Given the description of an element on the screen output the (x, y) to click on. 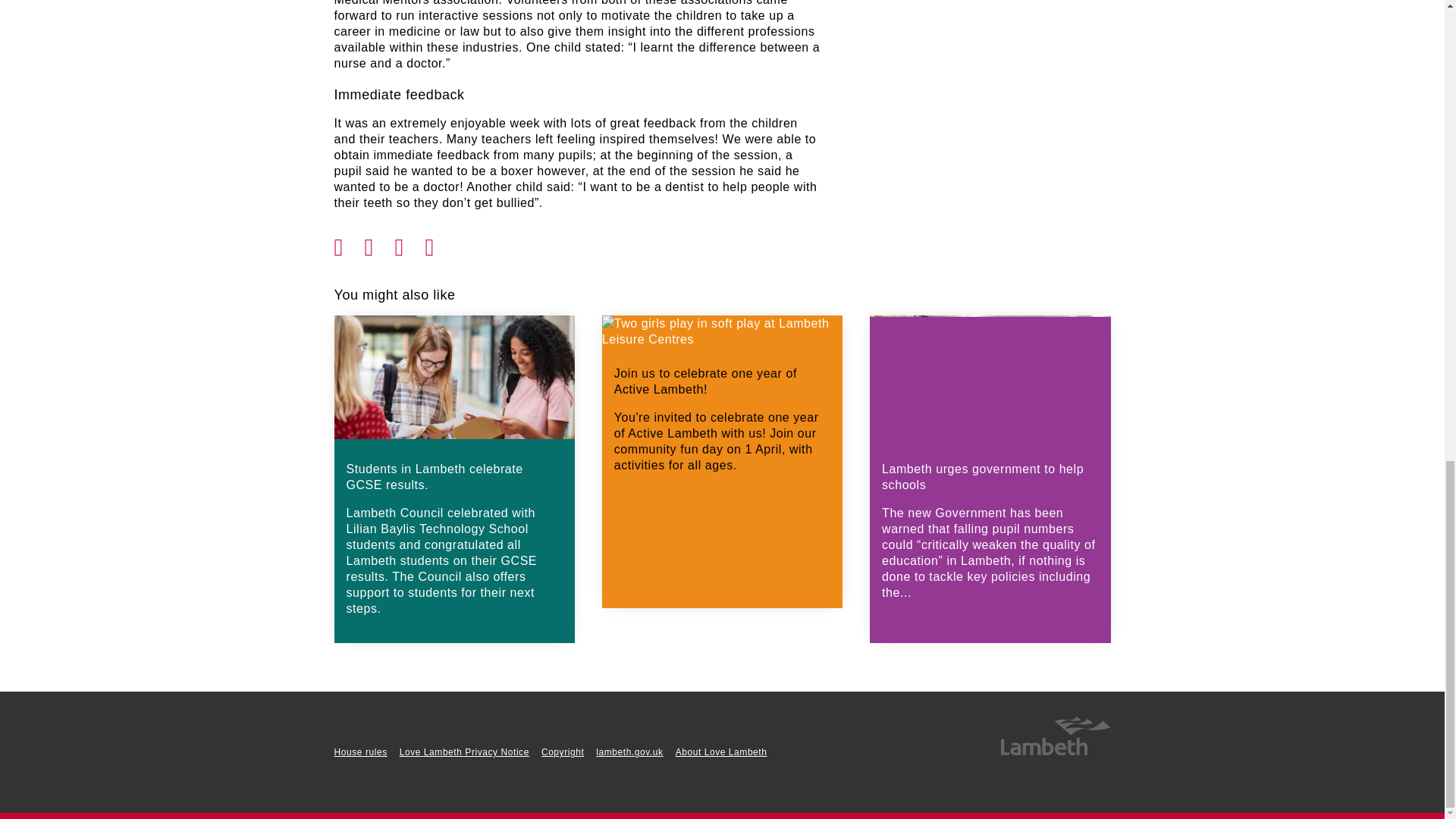
share this on twitter (379, 242)
lambeth council's website (1053, 751)
About Love Lambeth (721, 751)
Love Lambeth Privacy Notice (463, 751)
Copyright (562, 751)
House rules (360, 751)
share this on google plus (409, 242)
lambeth.gov.uk (628, 751)
share this on Facebook (348, 242)
